Given the description of an element on the screen output the (x, y) to click on. 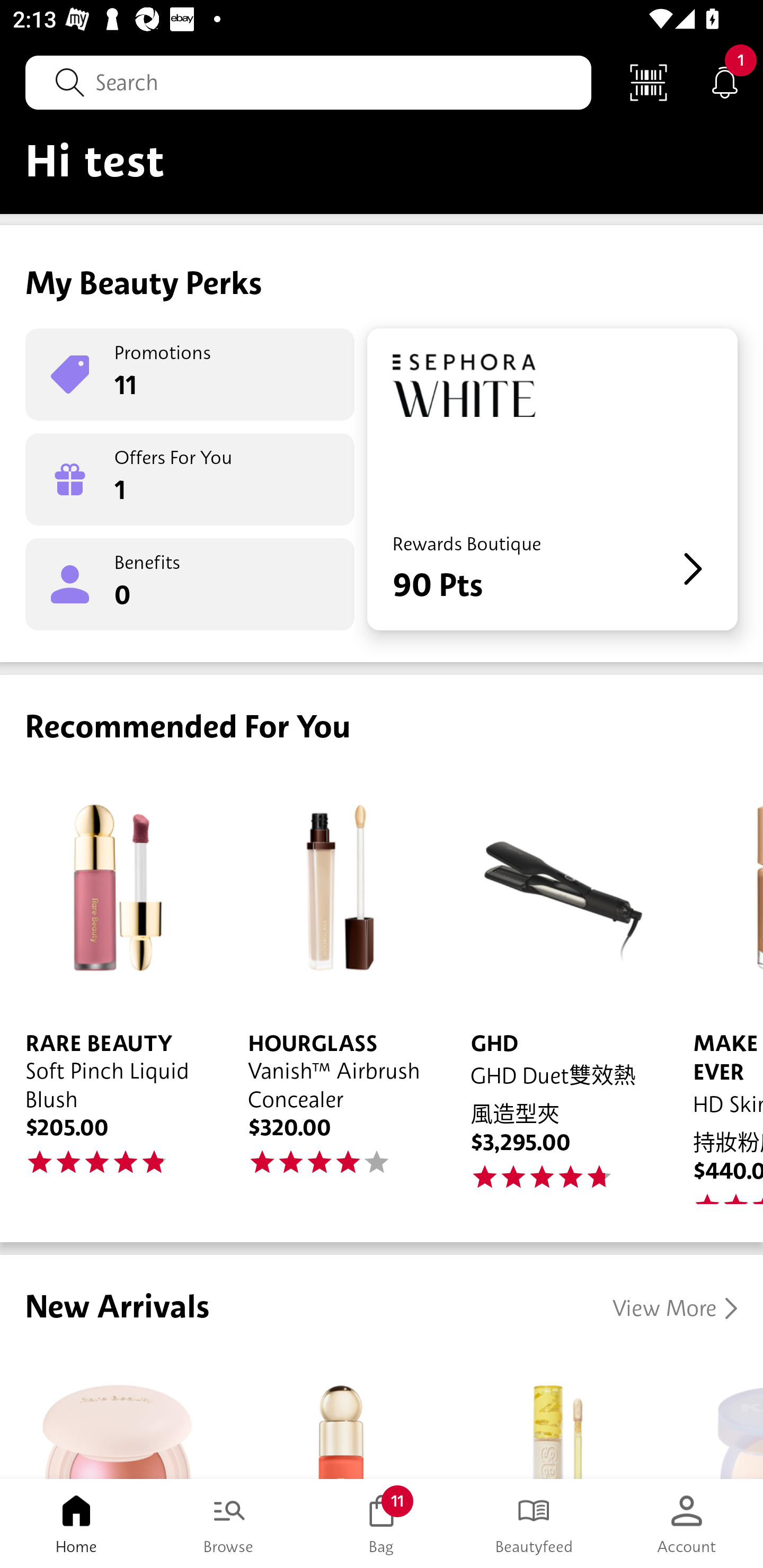
Scan Code (648, 81)
Notifications (724, 81)
Search (308, 81)
Promotions 11 (189, 373)
Rewards Boutique 90 Pts (552, 478)
Offers For You 1 (189, 478)
Benefits 0 (189, 583)
RARE BEAUTY Soft Pinch Liquid Blush $205.00 48.0 (111, 987)
HOURGLASS Vanish™ Airbrush Concealer $320.00 41.0 (333, 987)
GHD GHD Duet雙效熱風造型夾 $3,295.00 47.0 (555, 987)
New Arrivals View More (381, 1366)
View More (674, 1308)
Browse (228, 1523)
Bag 11 Bag (381, 1523)
Beautyfeed (533, 1523)
Account (686, 1523)
